Given the description of an element on the screen output the (x, y) to click on. 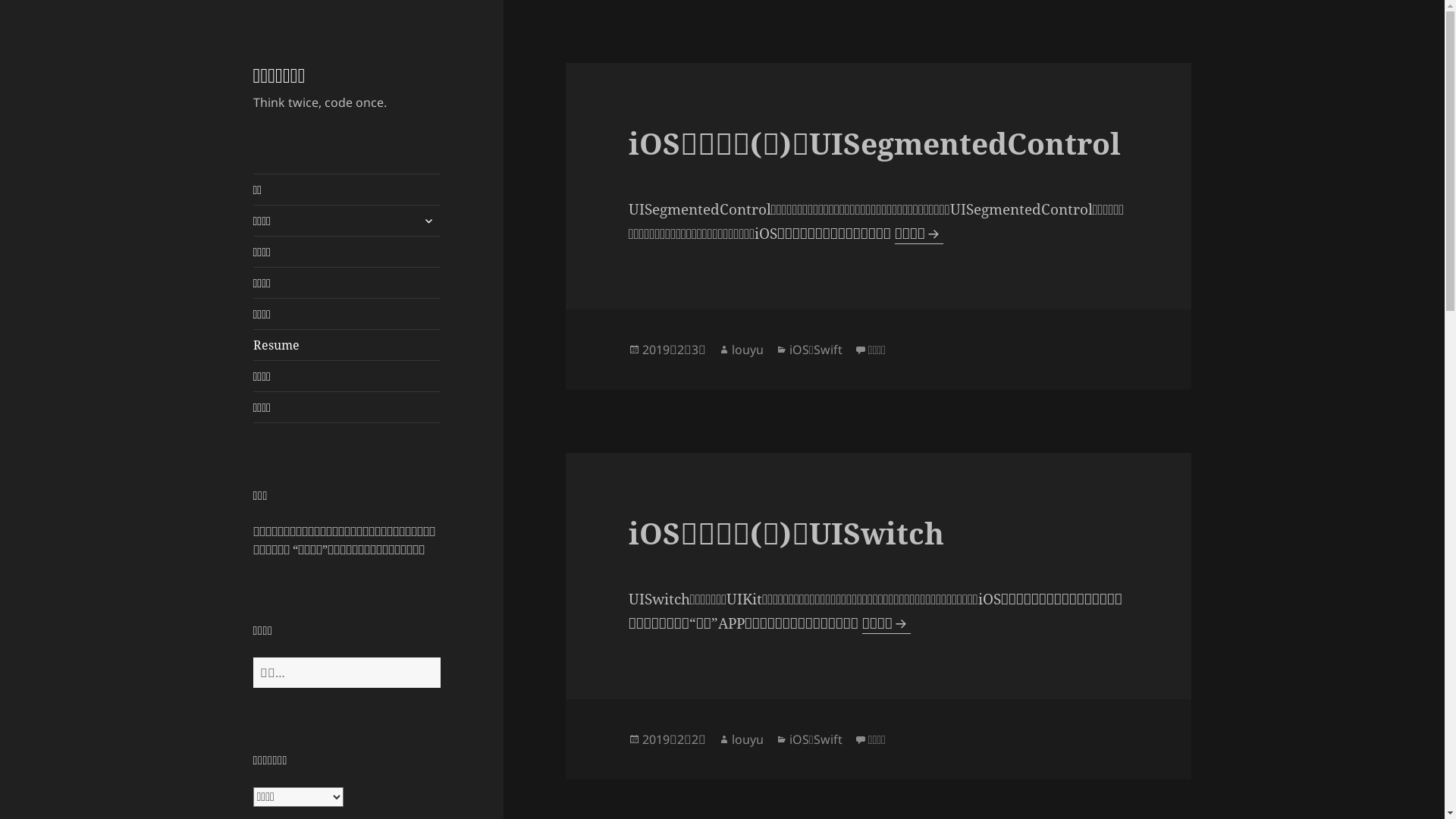
louyu Element type: text (747, 739)
louyu Element type: text (747, 349)
Resume Element type: text (347, 344)
